Given the description of an element on the screen output the (x, y) to click on. 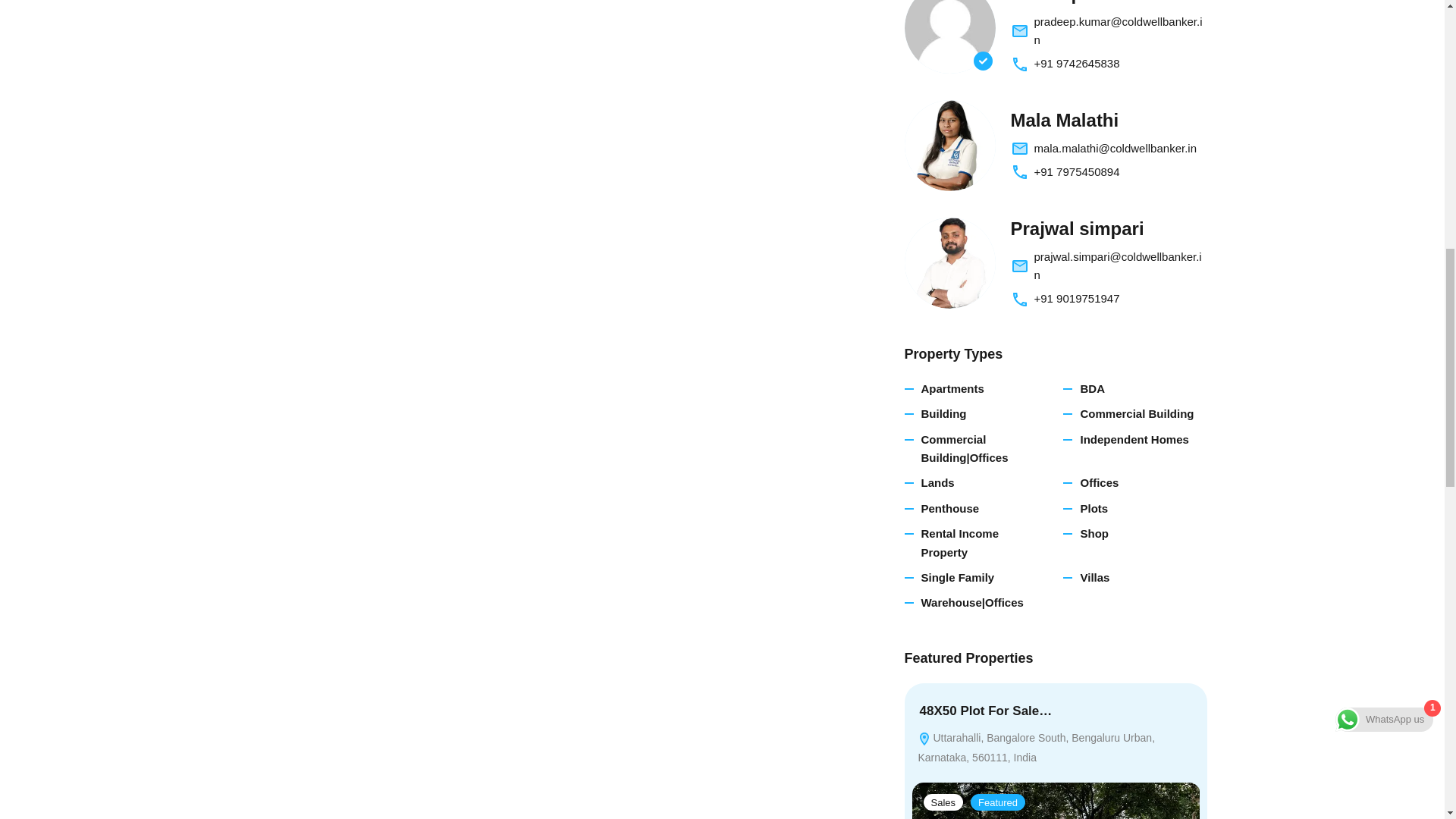
Prajwal simpari (949, 262)
Mala Malathi (949, 144)
Pradeep Kumar (949, 36)
